Given the description of an element on the screen output the (x, y) to click on. 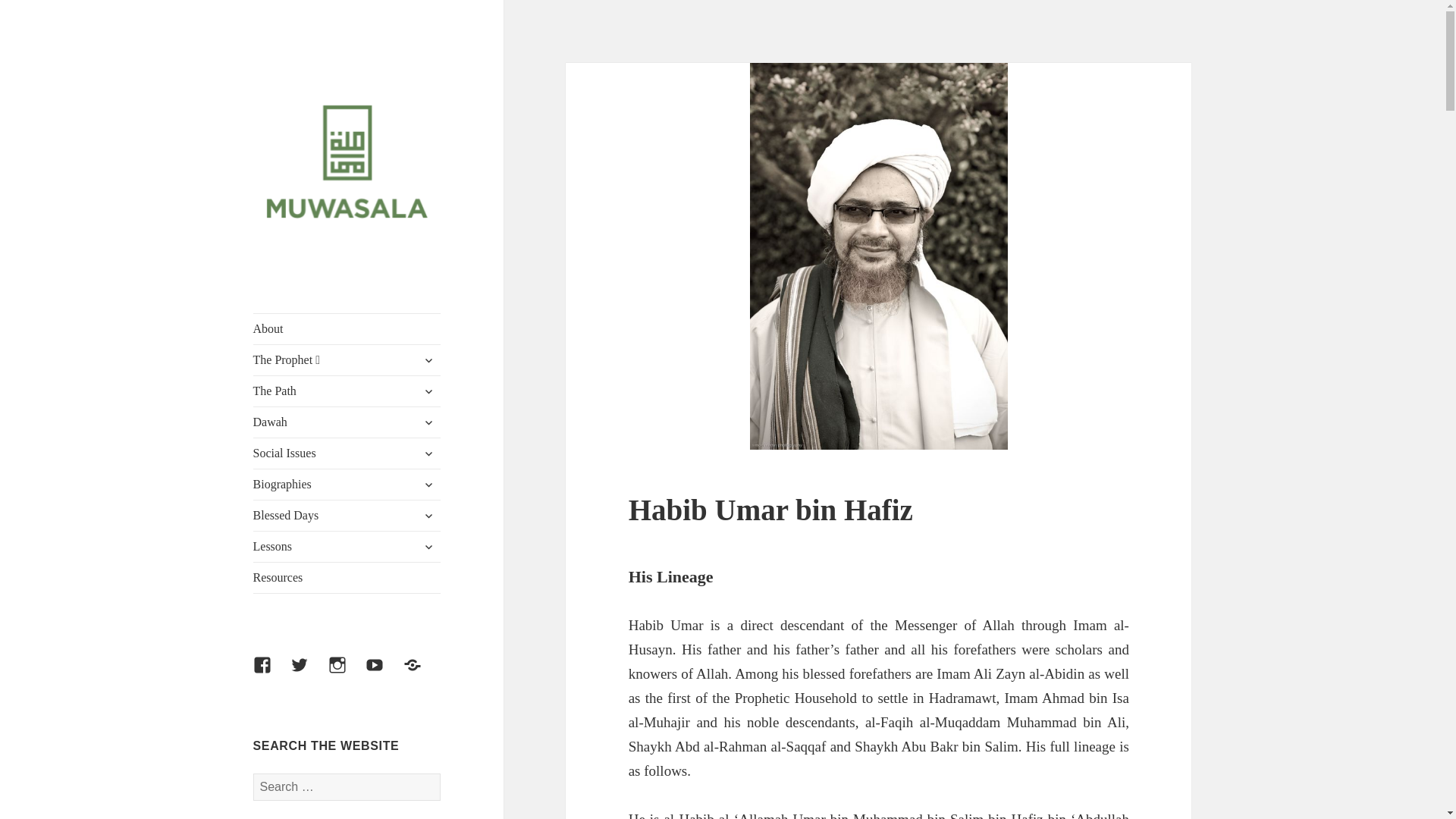
expand child menu (428, 391)
expand child menu (428, 453)
expand child menu (428, 422)
MUWASALA (313, 273)
About (347, 328)
expand child menu (428, 484)
The Path (347, 390)
expand child menu (428, 360)
